Given the description of an element on the screen output the (x, y) to click on. 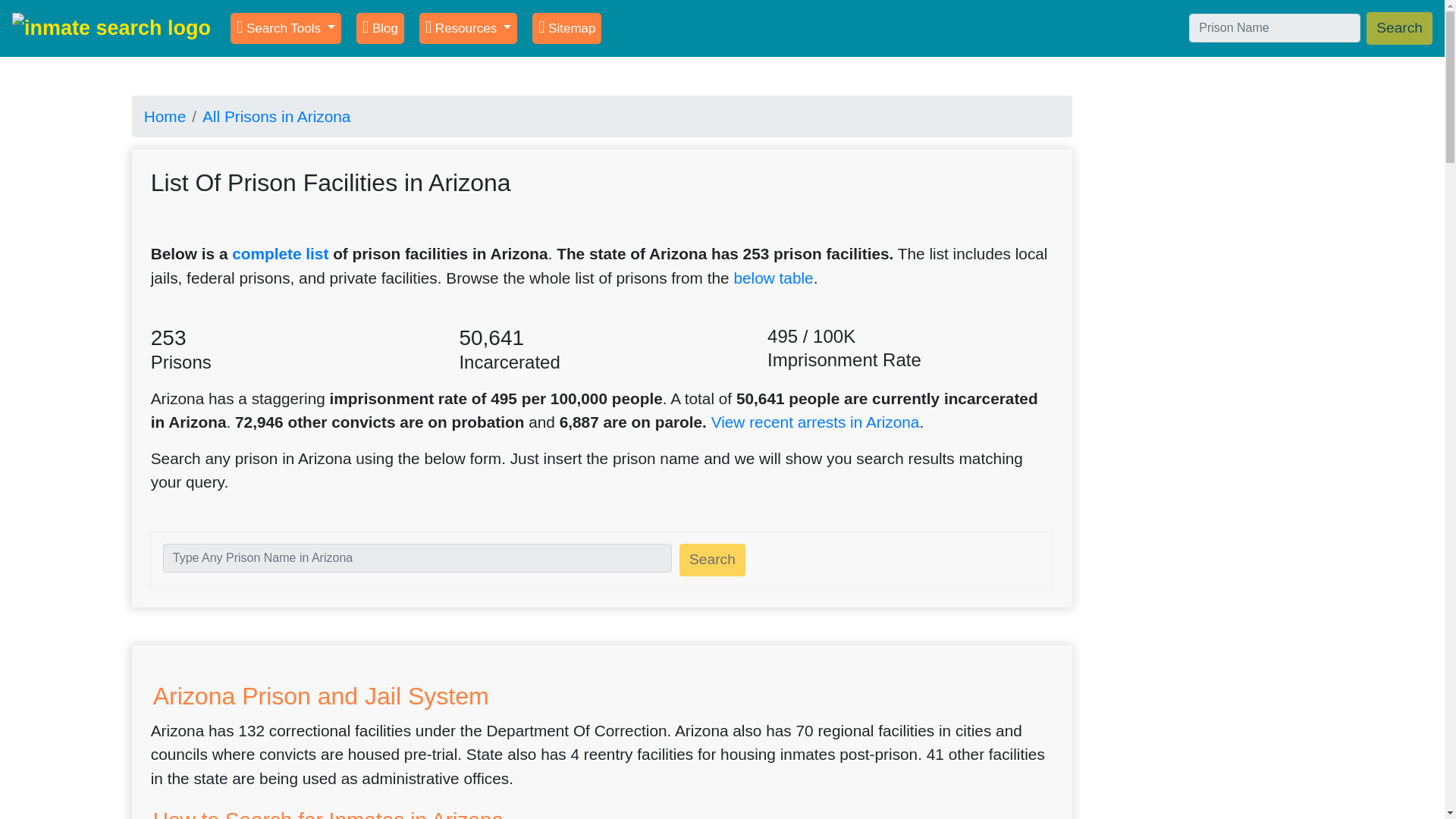
Sitemap (566, 29)
Search (712, 559)
All Prisons in Arizona (276, 116)
complete list (280, 253)
below table (772, 277)
Blog (380, 29)
Home (165, 116)
Search Tools (285, 29)
Resources (467, 29)
Search (1399, 28)
